Given the description of an element on the screen output the (x, y) to click on. 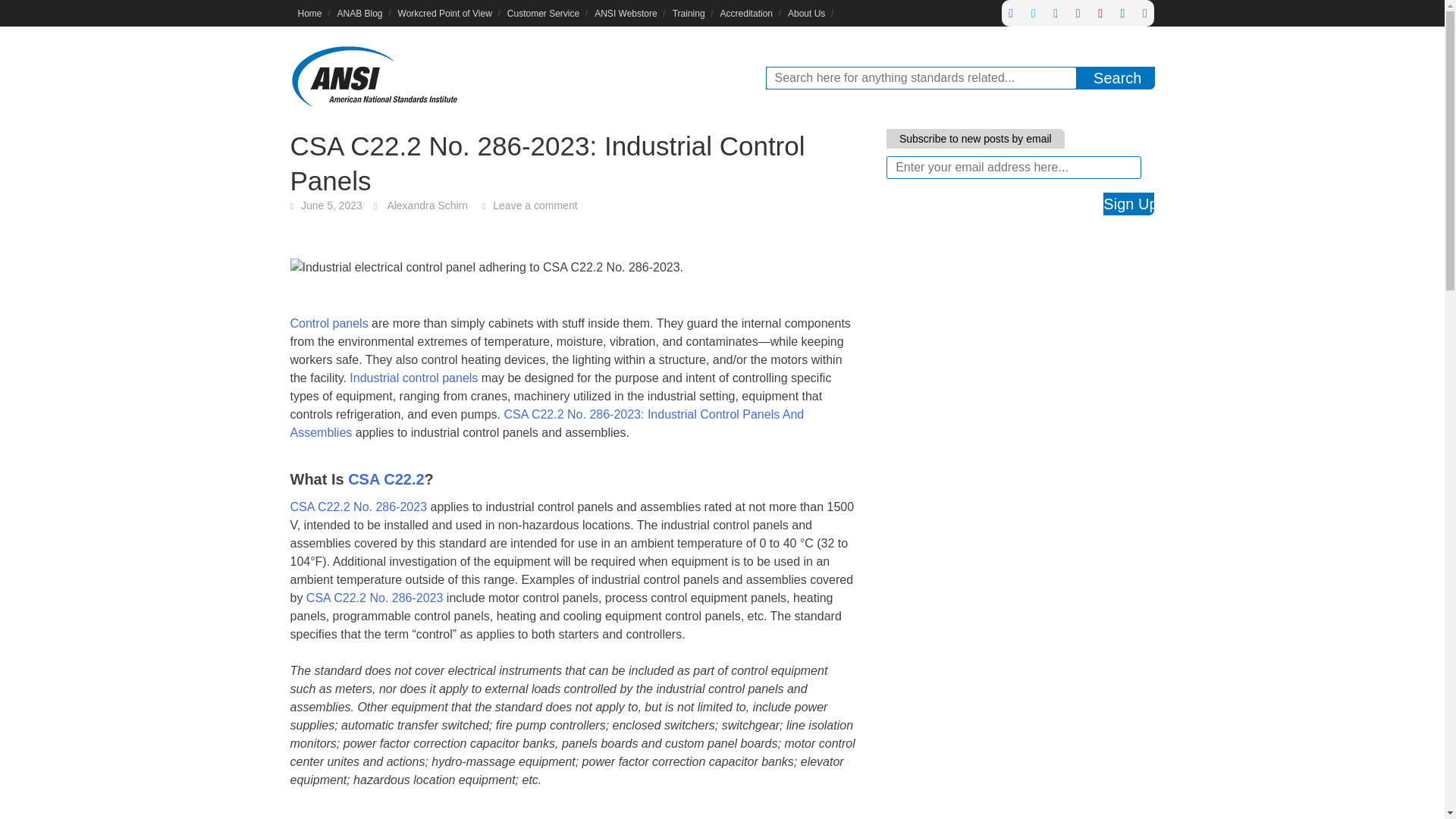
CSA C22.2 (385, 478)
Workcred Point of View (444, 13)
About Us (806, 13)
Alexandra Schirn (427, 205)
Customer Service (542, 13)
ANSI Webstore (624, 13)
Search (1117, 77)
Industrial control panels (413, 377)
Sign Up (1128, 203)
CSA C22.2 No. 286-2023 (357, 506)
